Given the description of an element on the screen output the (x, y) to click on. 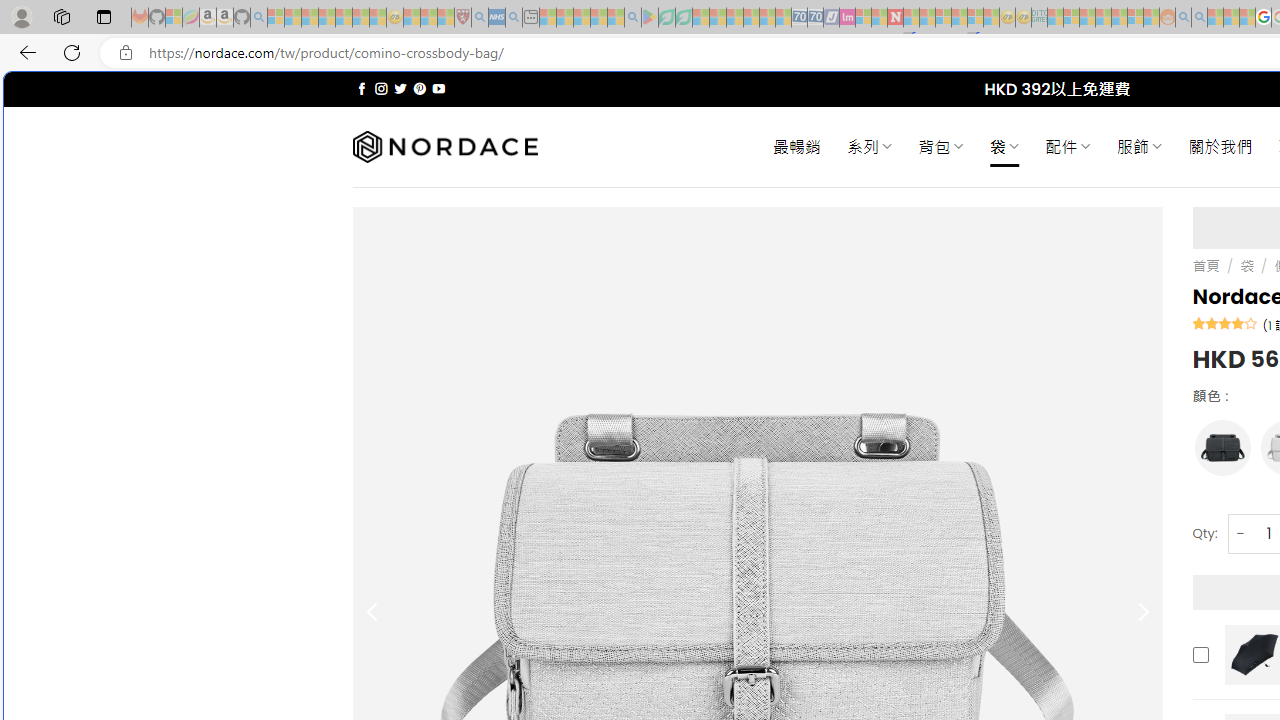
Utah sues federal government - Search - Sleeping (1199, 17)
- (1240, 532)
DITOGAMES AG Imprint - Sleeping (1039, 17)
google - Search - Sleeping (632, 17)
Robert H. Shmerling, MD - Harvard Health - Sleeping (462, 17)
Cheap Hotels - Save70.com - Sleeping (815, 17)
Tab actions menu (104, 16)
Local - MSN - Sleeping (445, 17)
Nordace (444, 147)
